Given the description of an element on the screen output the (x, y) to click on. 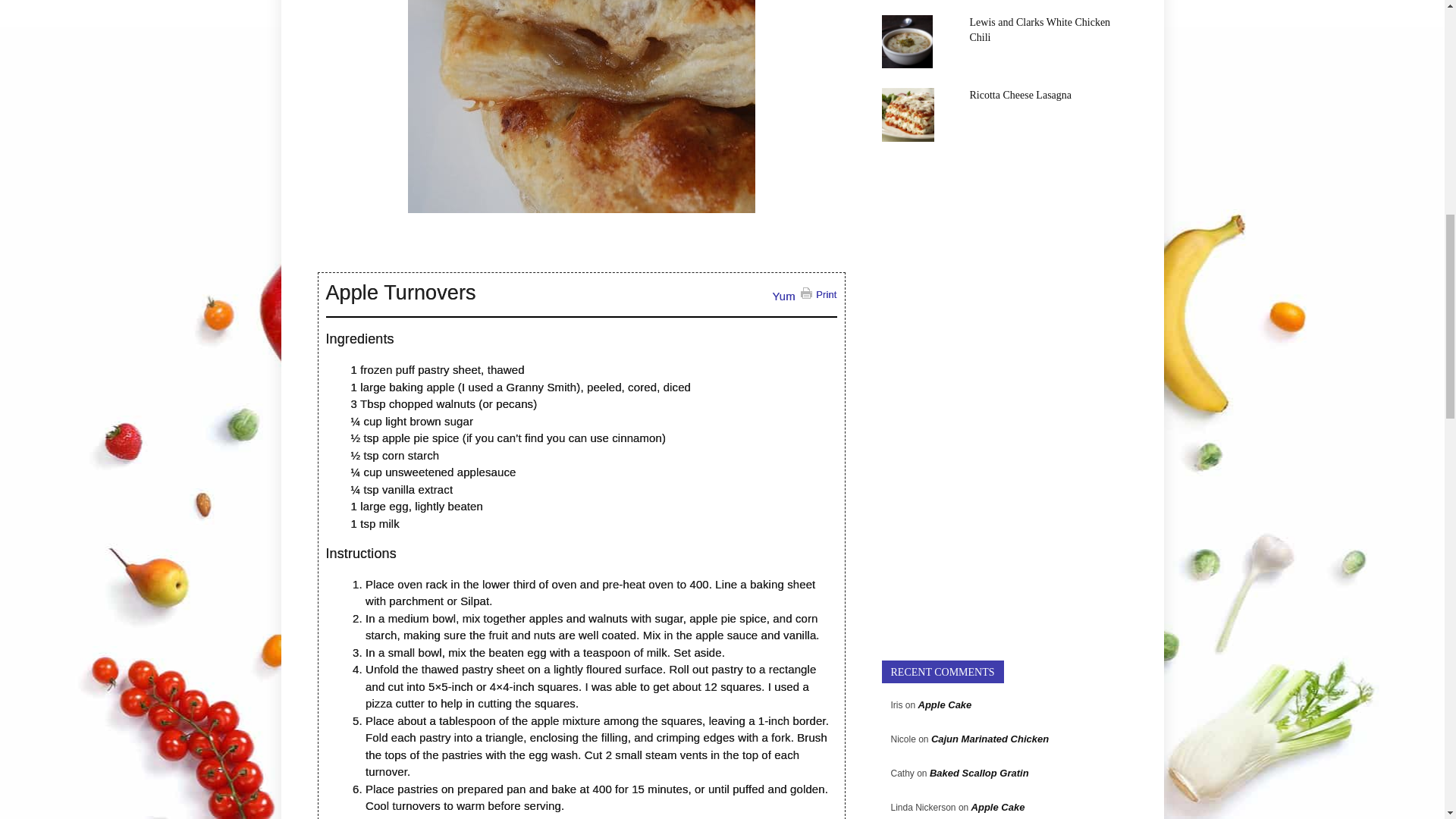
Print this recipe (817, 294)
